Given the description of an element on the screen output the (x, y) to click on. 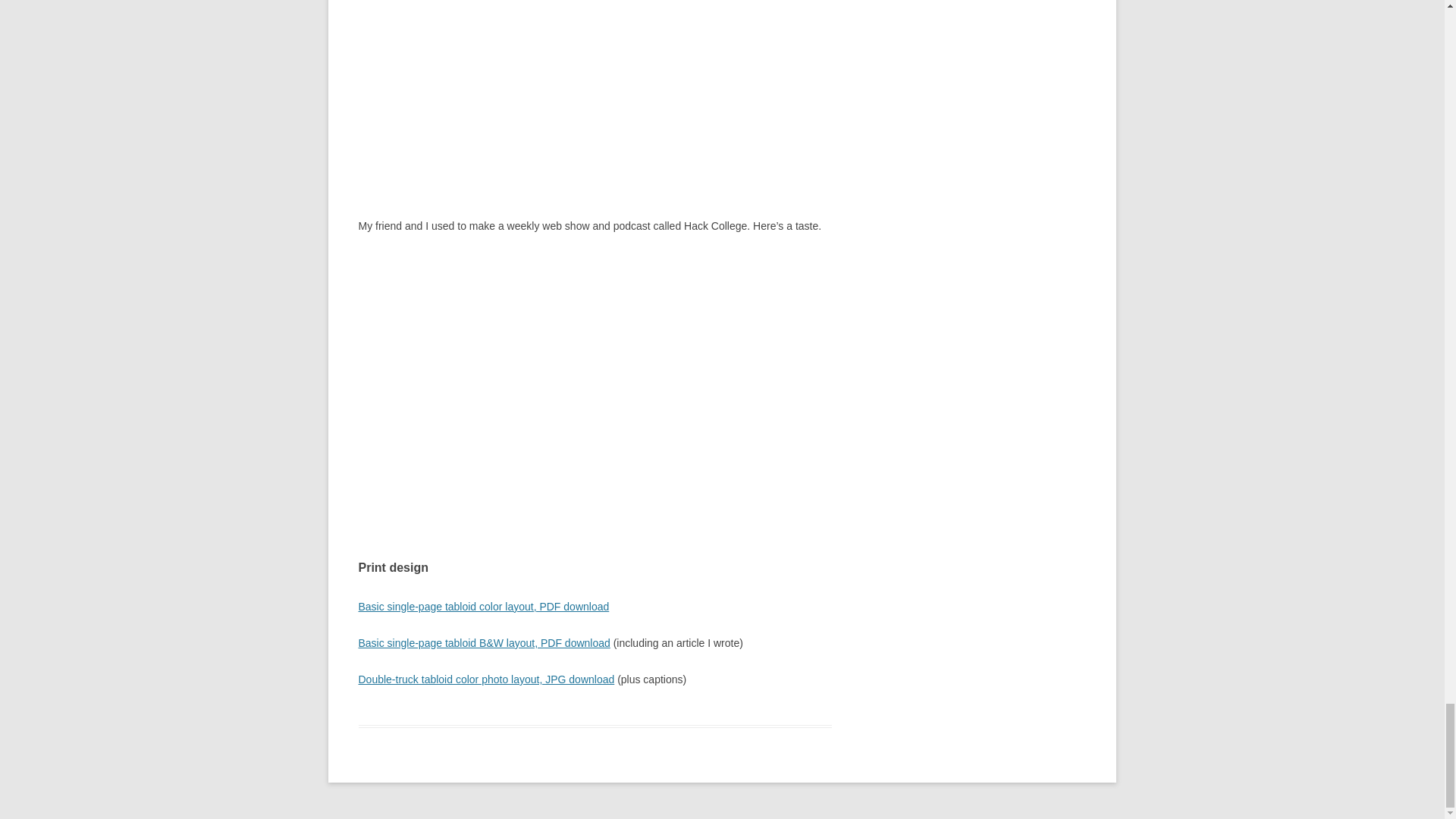
Double-truck tabloid color photo layout, JPG download (486, 679)
Basic single-page tabloid color layout, PDF download (483, 606)
